Given the description of an element on the screen output the (x, y) to click on. 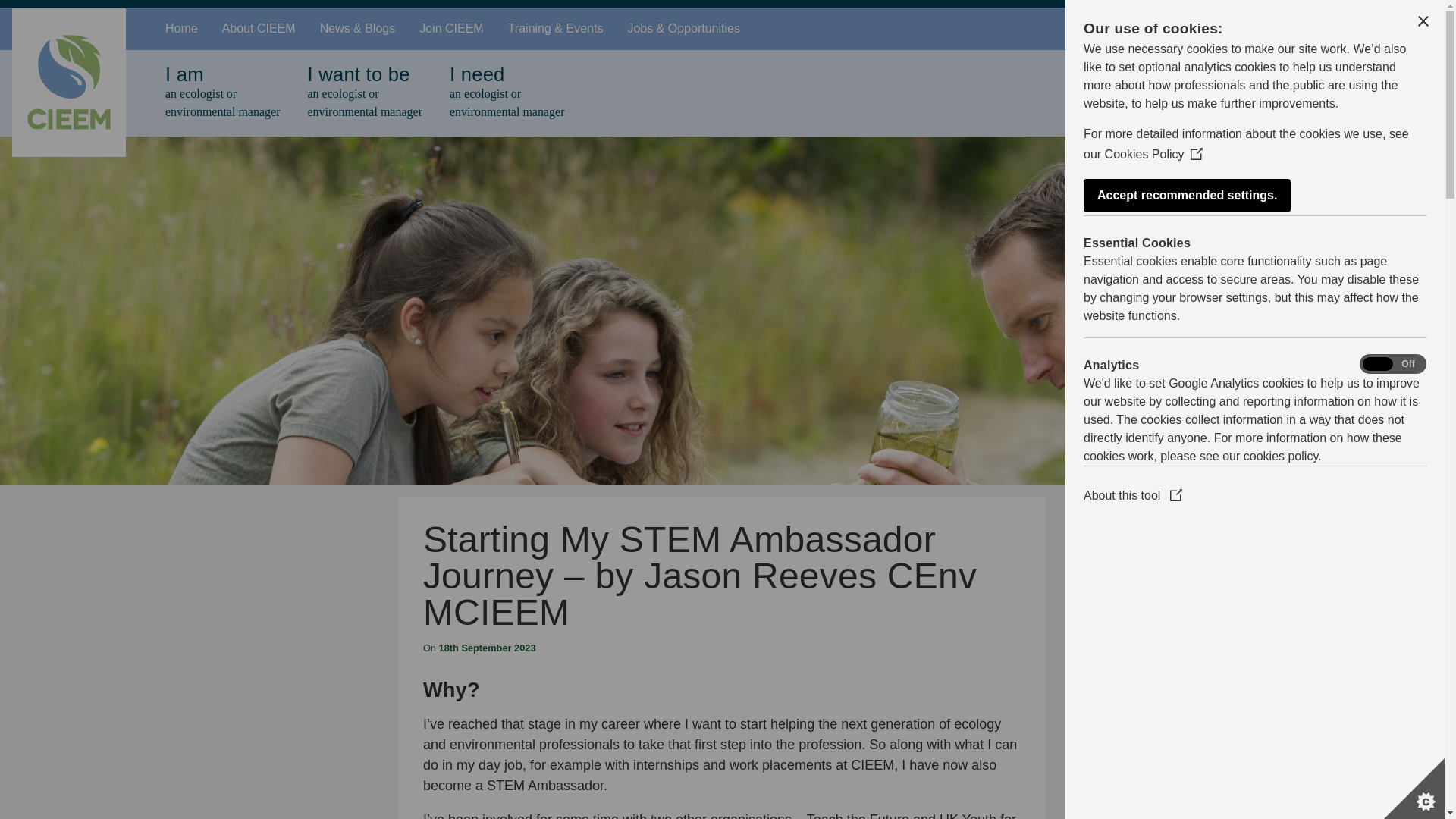
Linkedin (1369, 27)
Home (180, 28)
My CIEEM (1260, 28)
Twitter (1327, 27)
Search (773, 28)
Linkedin (1369, 28)
Twitter (1327, 28)
Facebook (1412, 27)
